Given the description of an element on the screen output the (x, y) to click on. 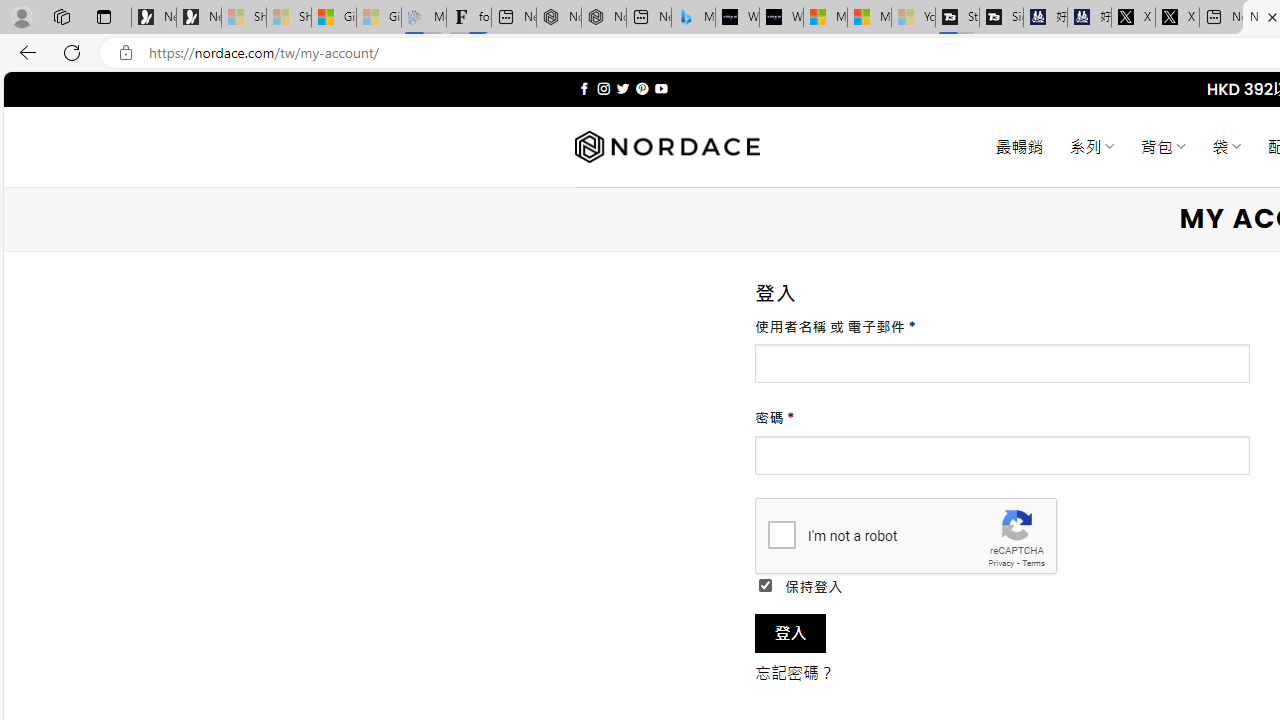
X (1177, 17)
